Given the description of an element on the screen output the (x, y) to click on. 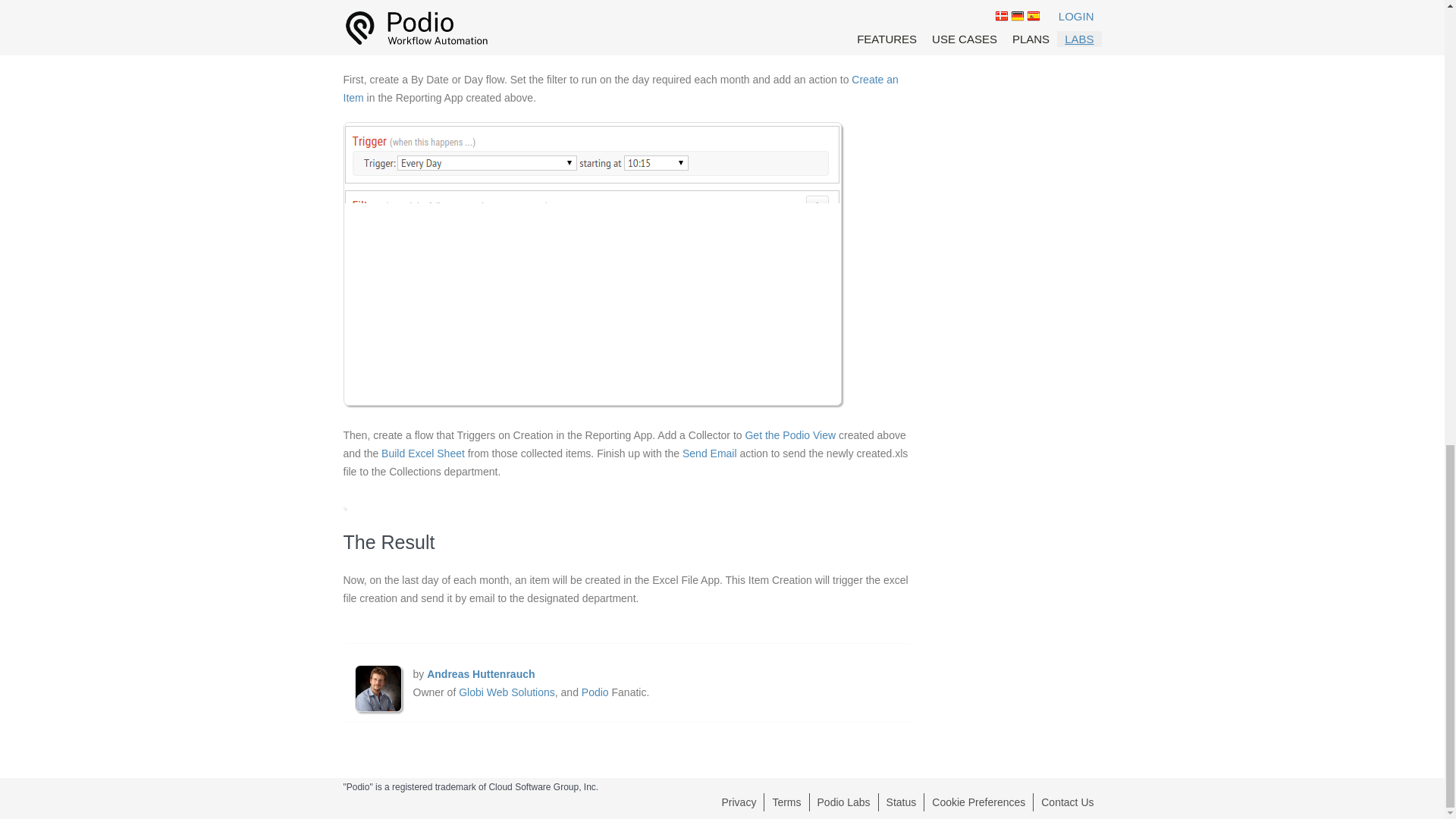
Build Excel Sheet (422, 453)
Create an Item (620, 88)
Podio (594, 692)
Andreas Huttenrauch (480, 674)
Cookie Preferences (978, 802)
Privacy (739, 802)
Send Email (709, 453)
Contact Us (1067, 802)
Get the Podio View (789, 435)
Refresh from Podio (425, 5)
Terms (785, 802)
Podio Labs (843, 802)
Globi Web Solutions (506, 692)
Status (901, 802)
